Given the description of an element on the screen output the (x, y) to click on. 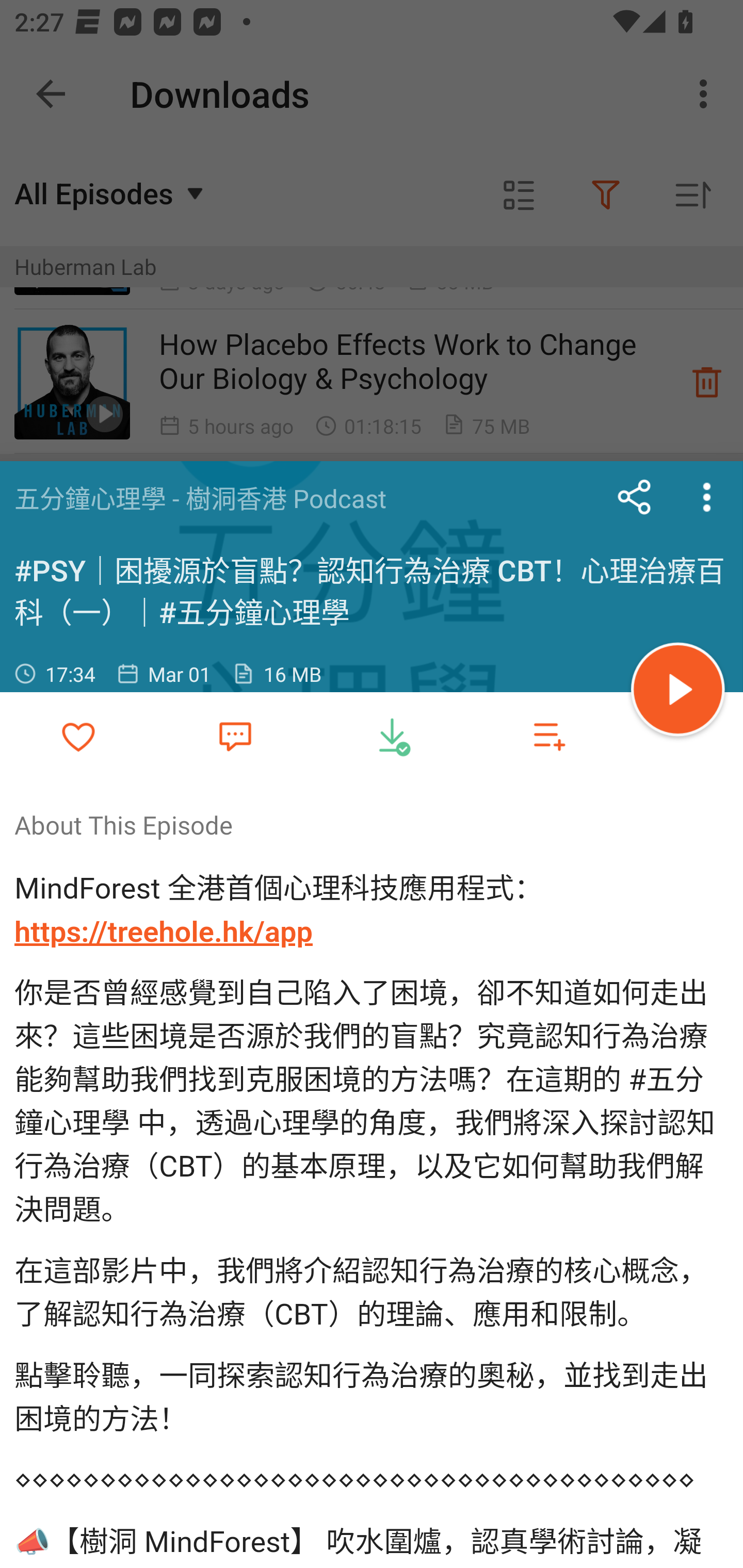
Share (634, 496)
more options (706, 496)
Play (677, 692)
Favorite (234, 735)
Add to Favorites (78, 735)
Downloaded (391, 735)
Add to playlist (548, 735)
https://treehole.hk/app (164, 932)
